Given the description of an element on the screen output the (x, y) to click on. 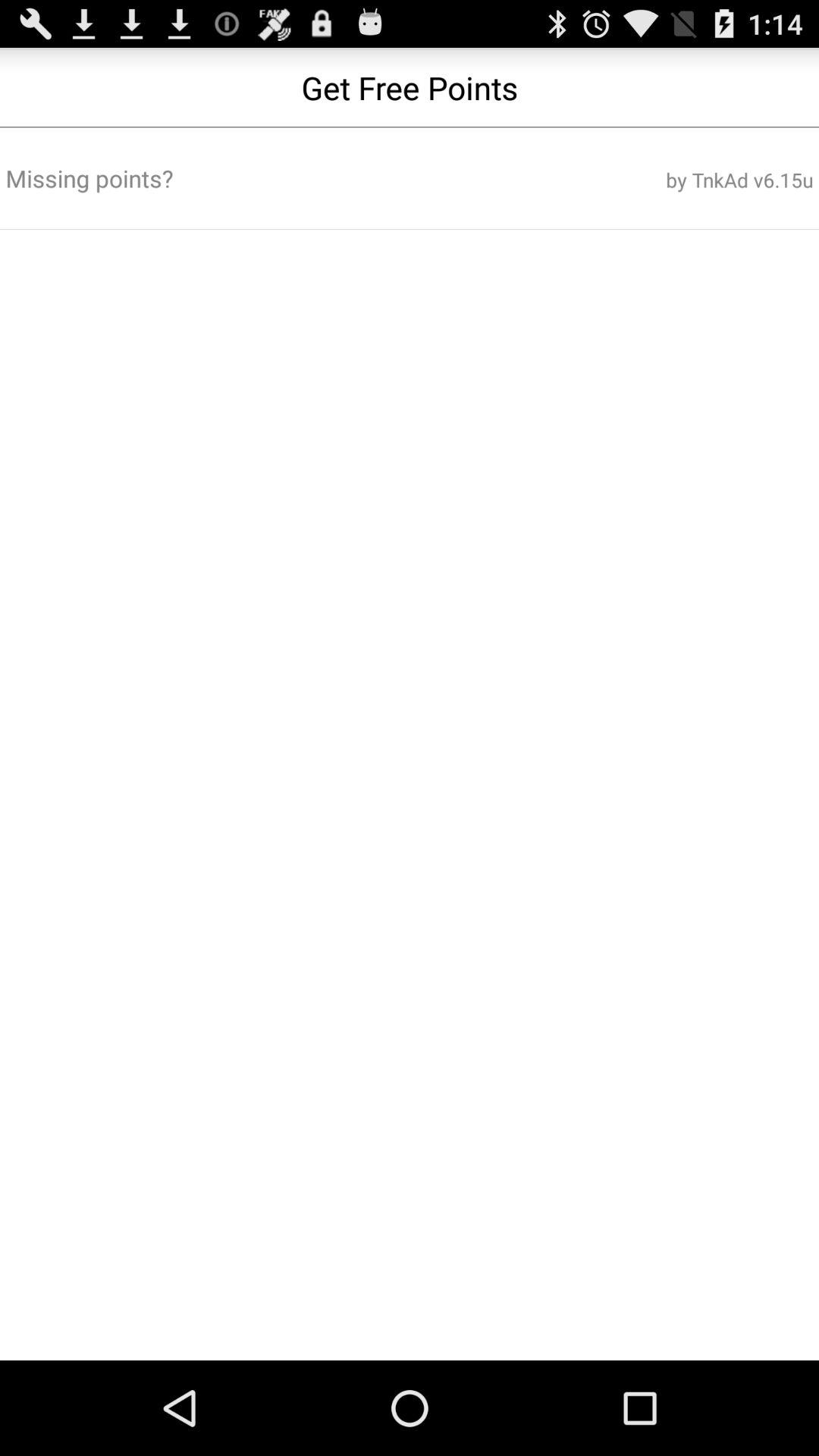
choose the missing points? item (273, 178)
